Given the description of an element on the screen output the (x, y) to click on. 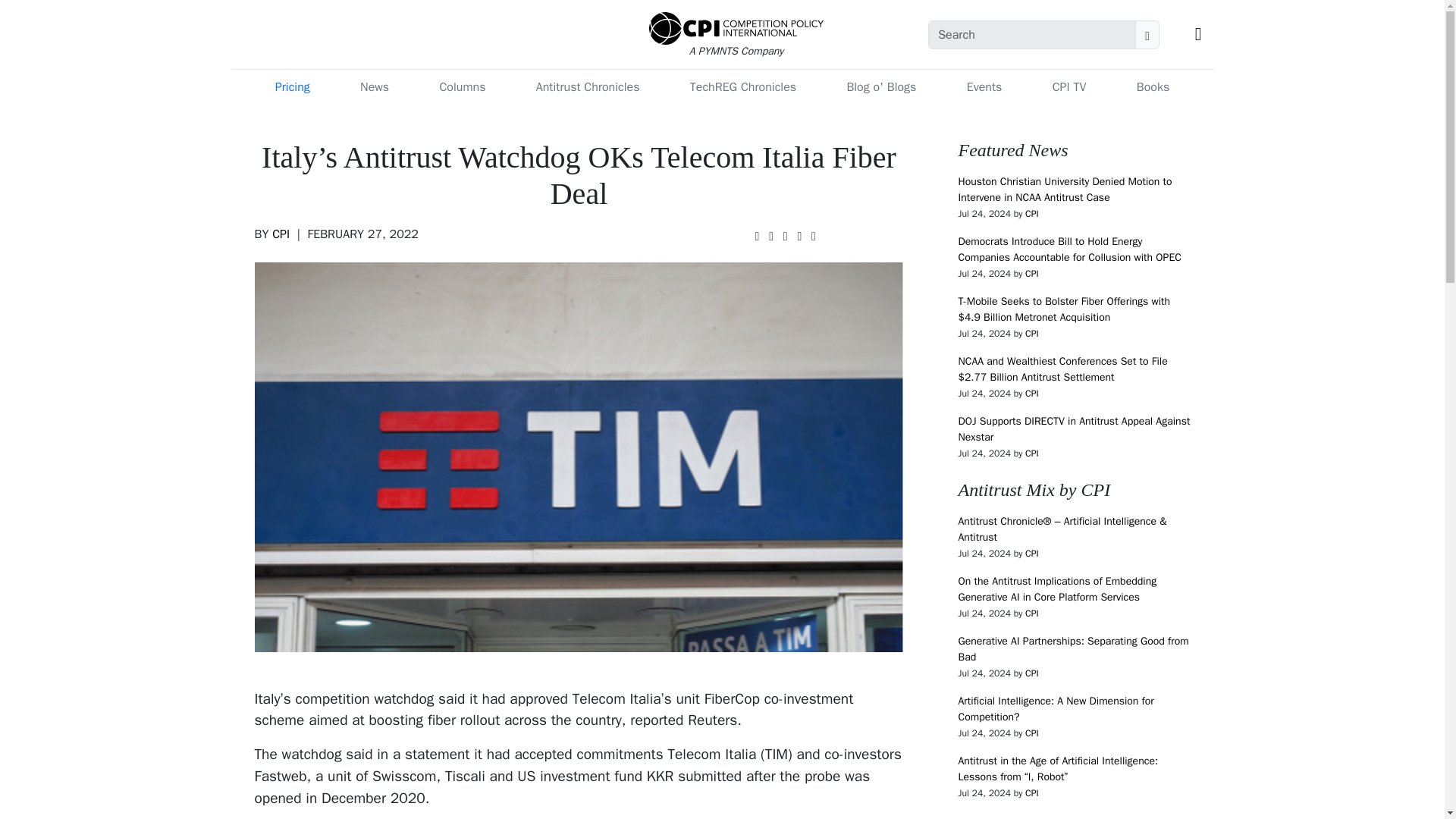
CPI TV (1069, 87)
CPI (280, 233)
News (373, 87)
Columns (462, 87)
Antitrust Chronicles (587, 87)
Blog o' Blogs (880, 87)
Pricing (292, 87)
TechREG Chronicles (743, 87)
Events (984, 87)
Books (1152, 87)
Posts by CPI (280, 233)
